Given the description of an element on the screen output the (x, y) to click on. 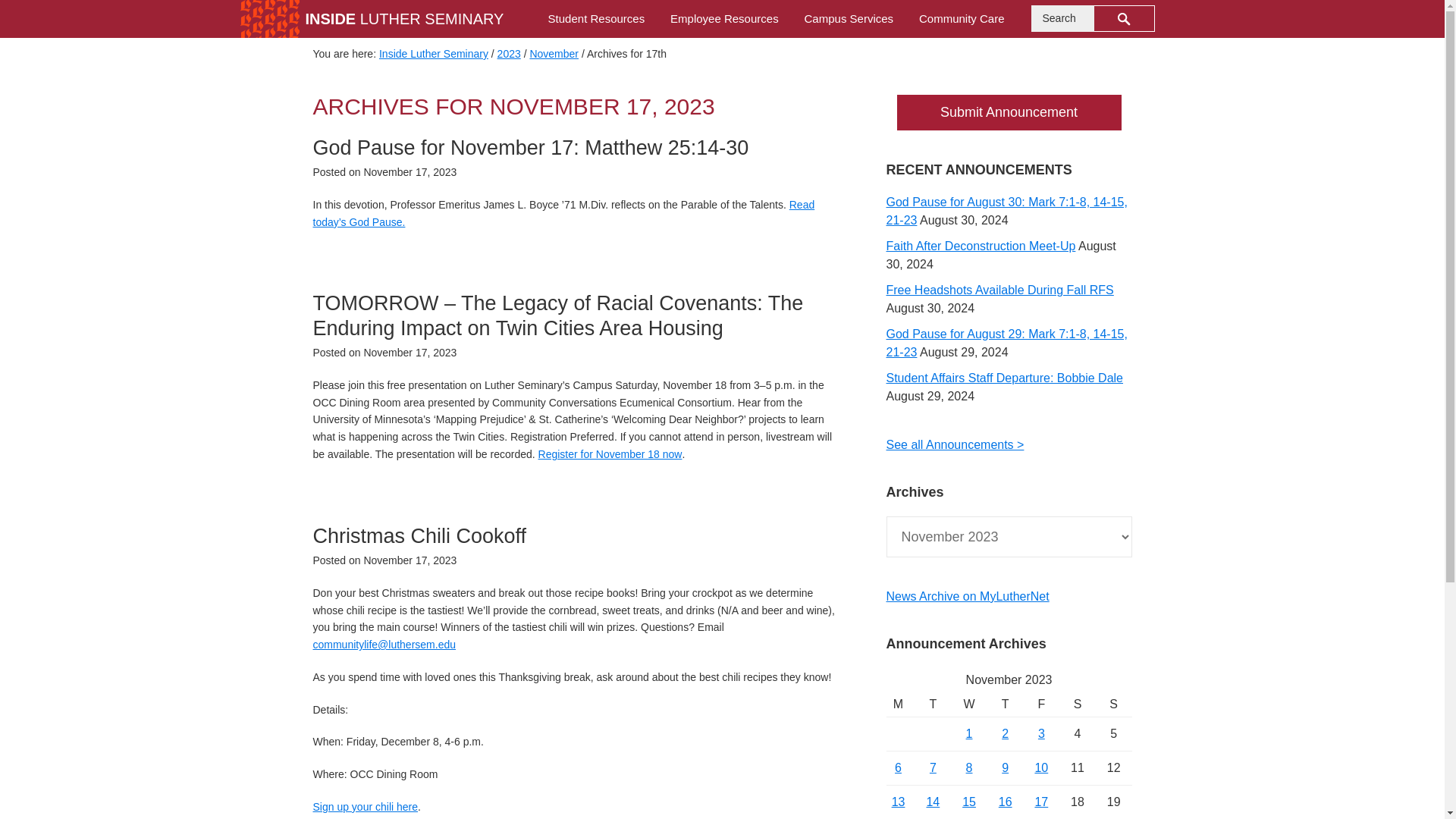
Student Affairs Staff Departure: Bobbie Dale (1003, 377)
INSIDE LUTHER SEMINARY (403, 18)
Free Headshots Available During Fall RFS (999, 289)
Campus Services (849, 17)
Community Care (961, 17)
Saturday (1077, 704)
Tuesday (933, 704)
10 (1040, 767)
Christmas Chili Cookoff (419, 535)
